Given the description of an element on the screen output the (x, y) to click on. 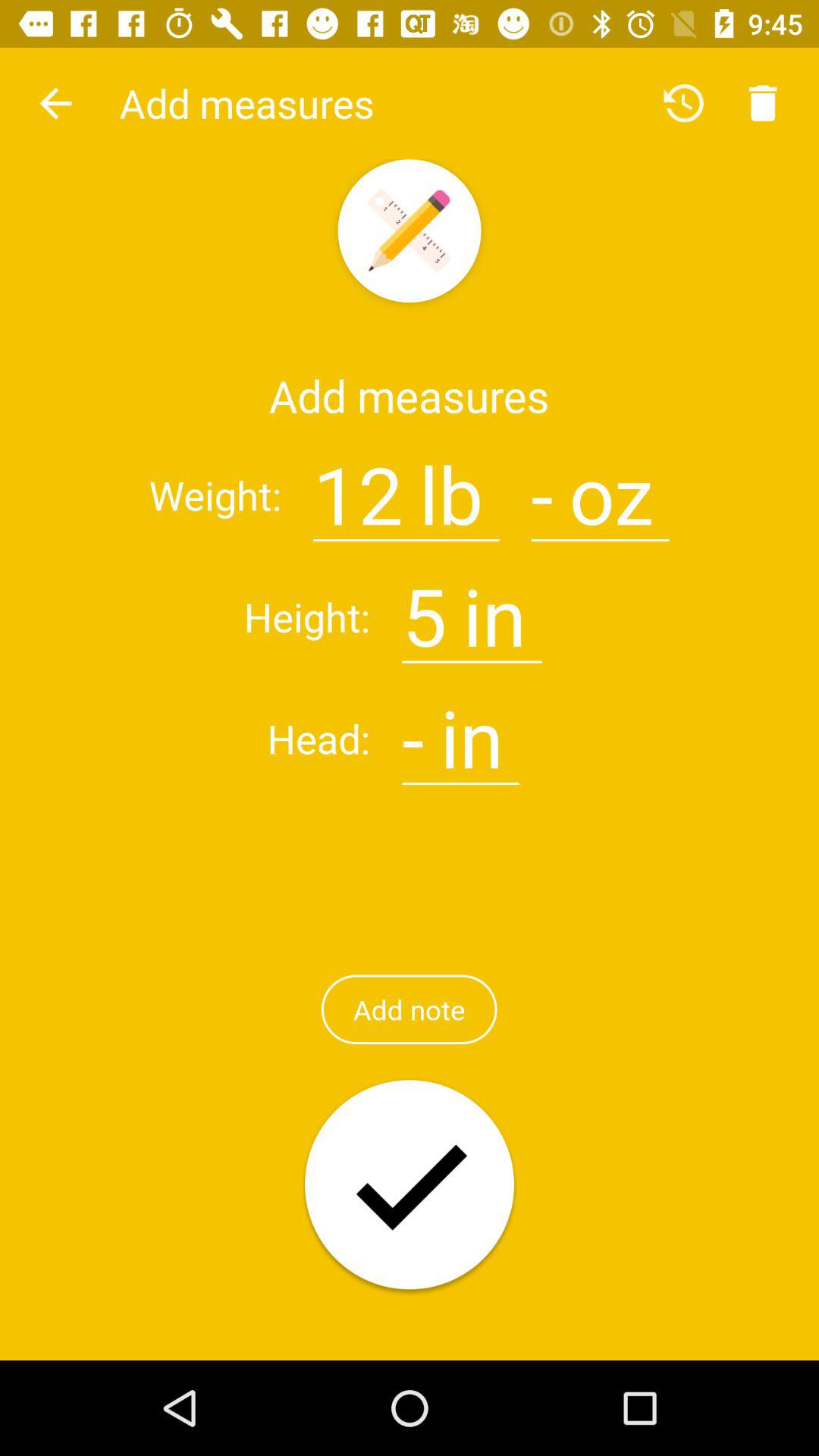
press the icon to the left of lb item (358, 485)
